Given the description of an element on the screen output the (x, y) to click on. 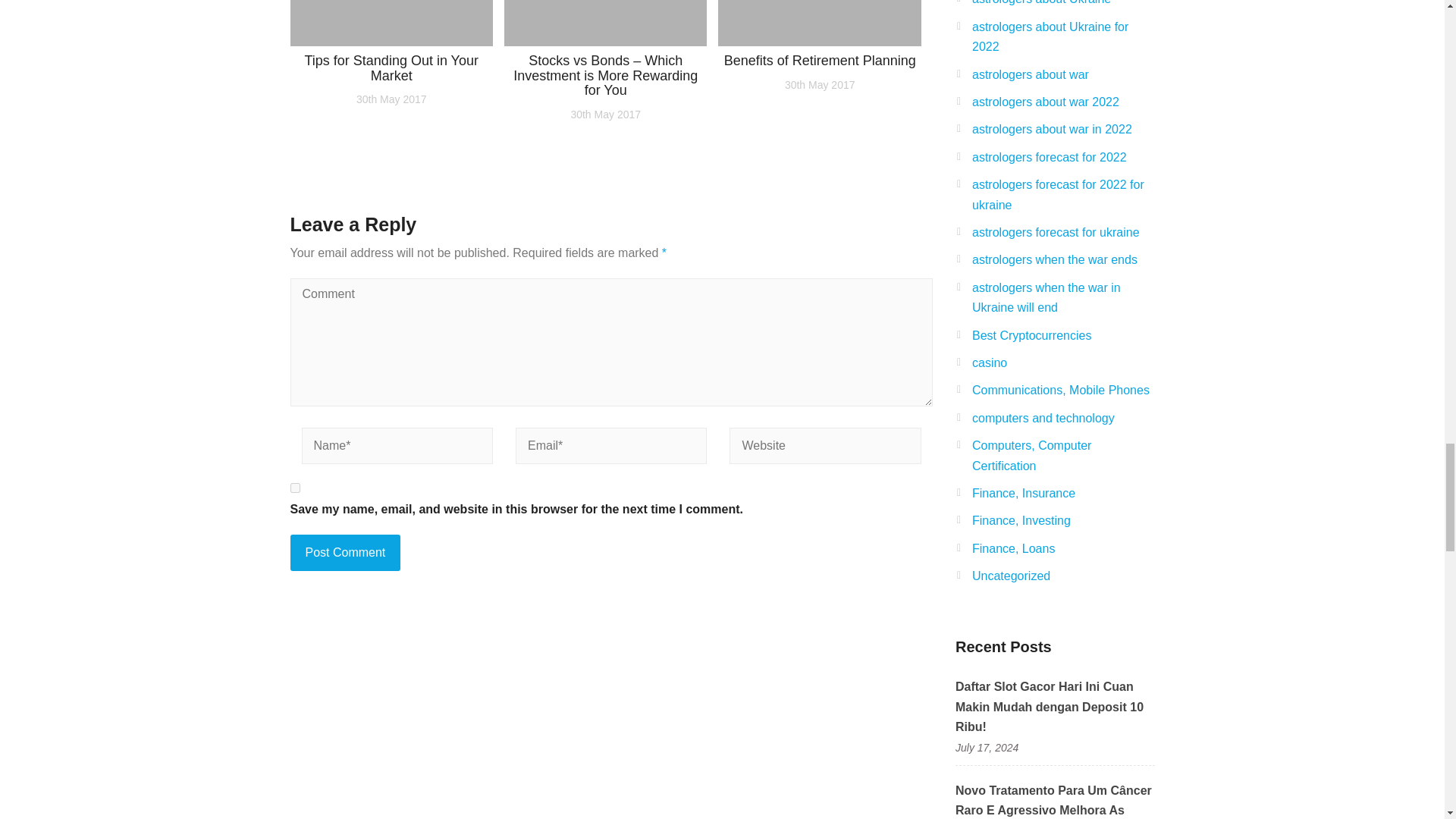
yes (294, 488)
Post Comment (344, 552)
